Given the description of an element on the screen output the (x, y) to click on. 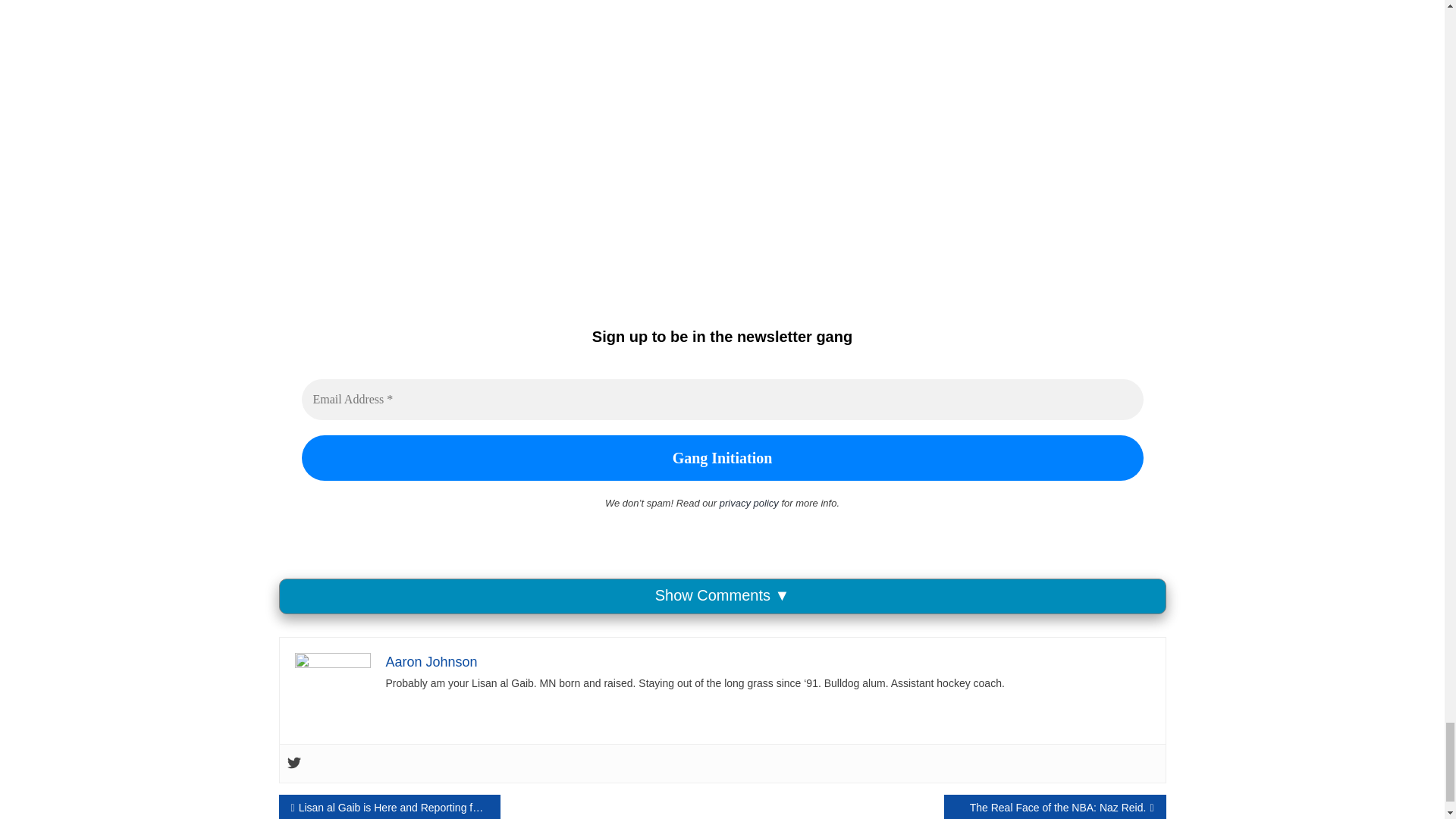
Email Address (721, 399)
Gang Initiation (721, 457)
Twitter (292, 763)
